Given the description of an element on the screen output the (x, y) to click on. 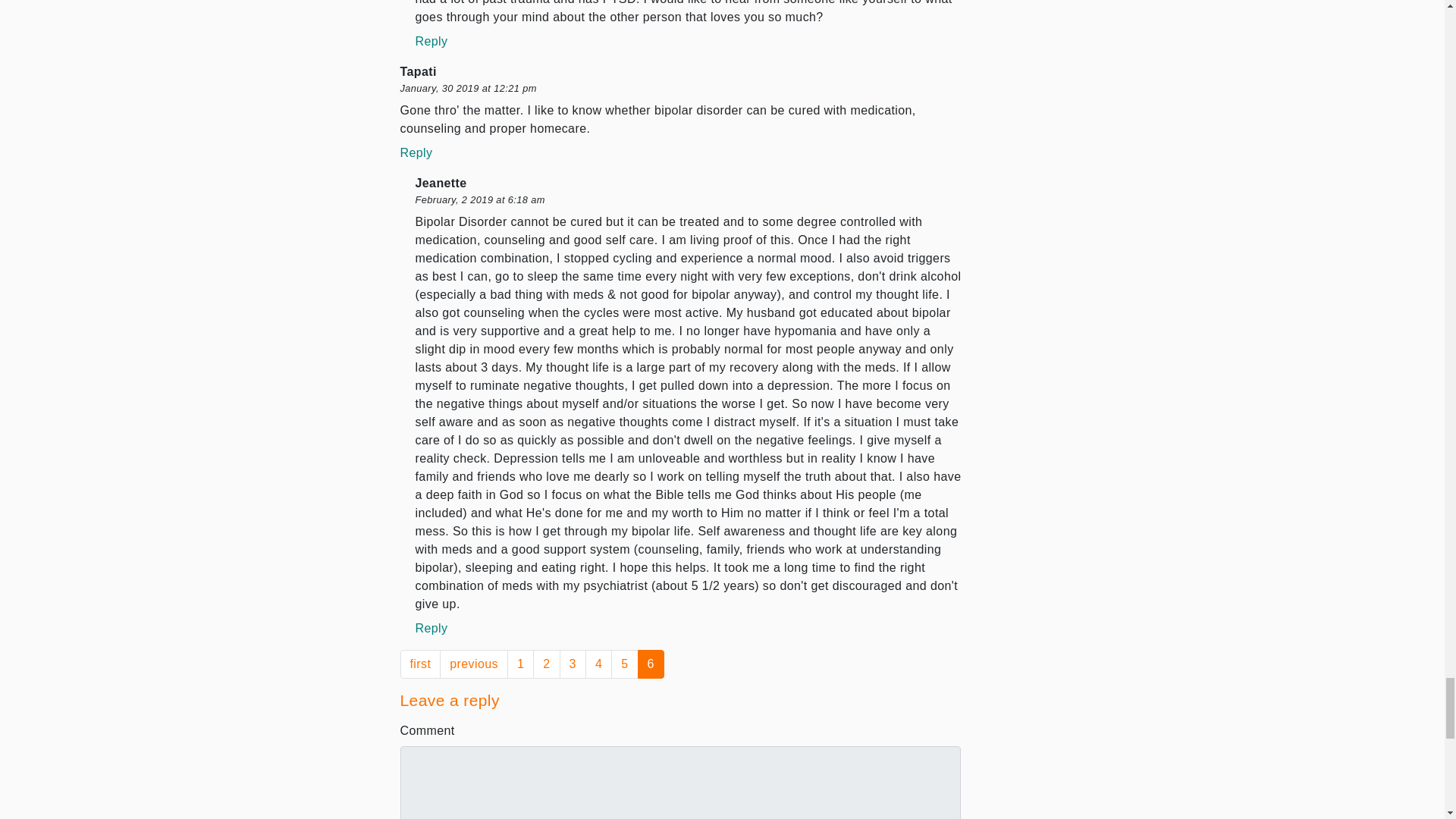
Go to page 2 (545, 664)
Go to first page (420, 664)
Current page (650, 664)
Go to page 3 (572, 664)
Go to page 1 (520, 664)
Go to page 4 (598, 664)
Go to previous page (473, 664)
Go to page 5 (624, 664)
